Given the description of an element on the screen output the (x, y) to click on. 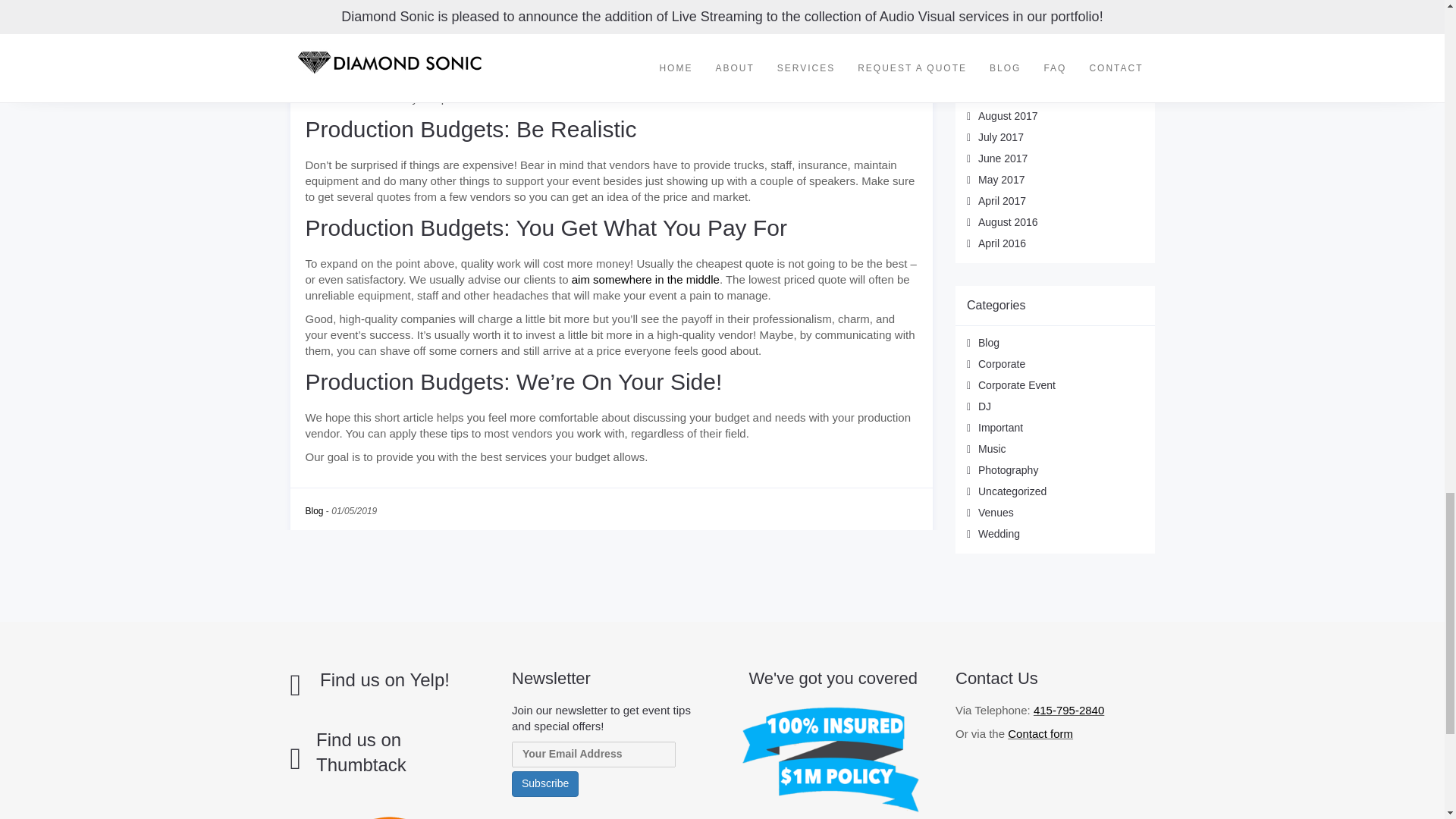
aim somewhere in the middle (645, 278)
Thumbtack Top Pro 2017 - DiamondSonic (389, 815)
Blog (313, 511)
